Given the description of an element on the screen output the (x, y) to click on. 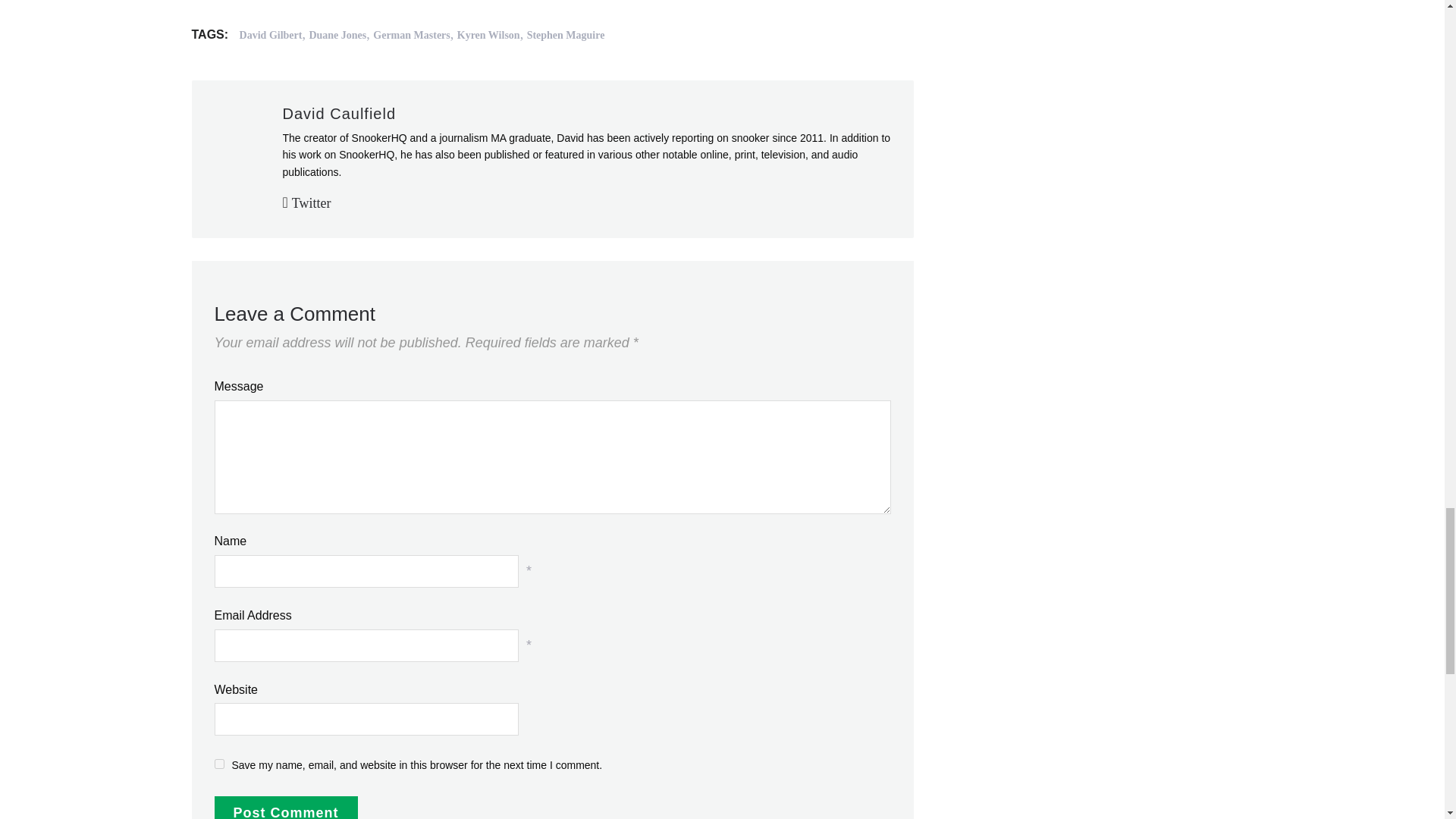
Posts by David Caulfield (339, 113)
Follow David Caulfield on Twitter (306, 202)
yes (219, 764)
Post Comment (285, 807)
